Given the description of an element on the screen output the (x, y) to click on. 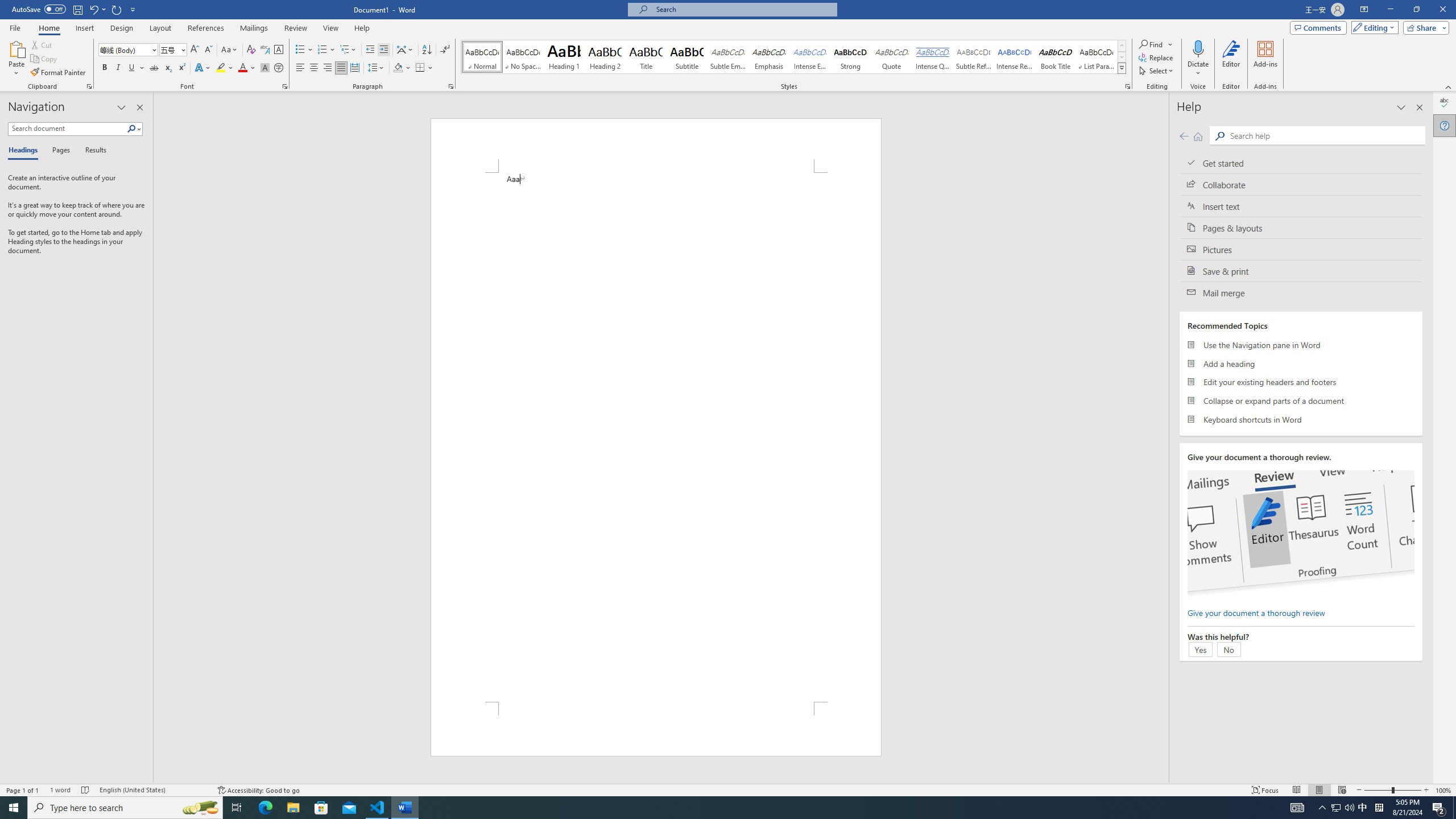
Page 1 content (655, 436)
Emphasis (768, 56)
No (1228, 649)
Intense Quote (932, 56)
